Given the description of an element on the screen output the (x, y) to click on. 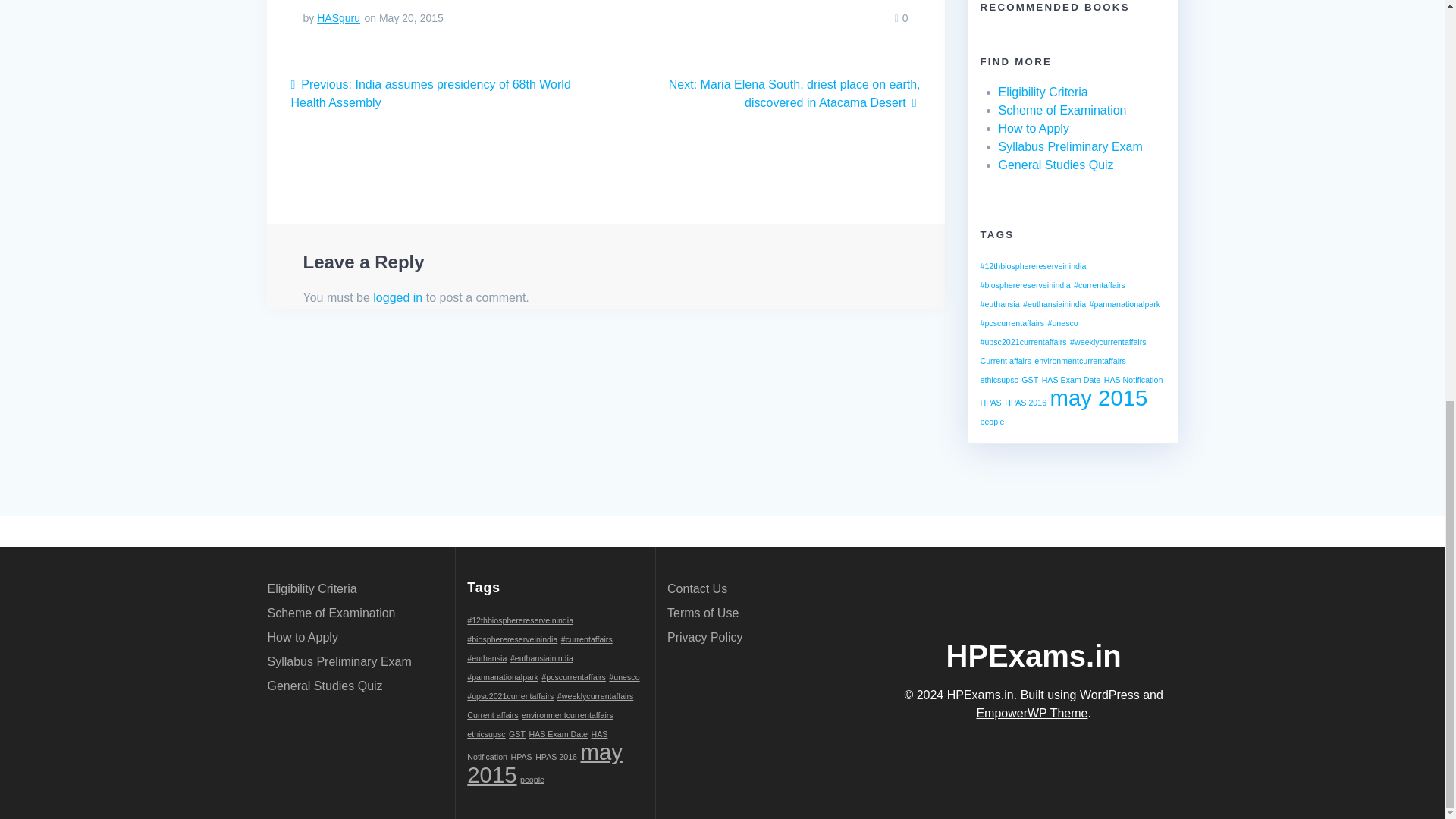
HASguru (338, 18)
Posts by HASguru (338, 18)
logged in (397, 297)
Eligibility Criteria (1042, 91)
Syllabus Preliminary Exam (1069, 146)
General Studies Quiz (1055, 164)
How to Apply (1032, 128)
Scheme of Examination (1061, 110)
